Given the description of an element on the screen output the (x, y) to click on. 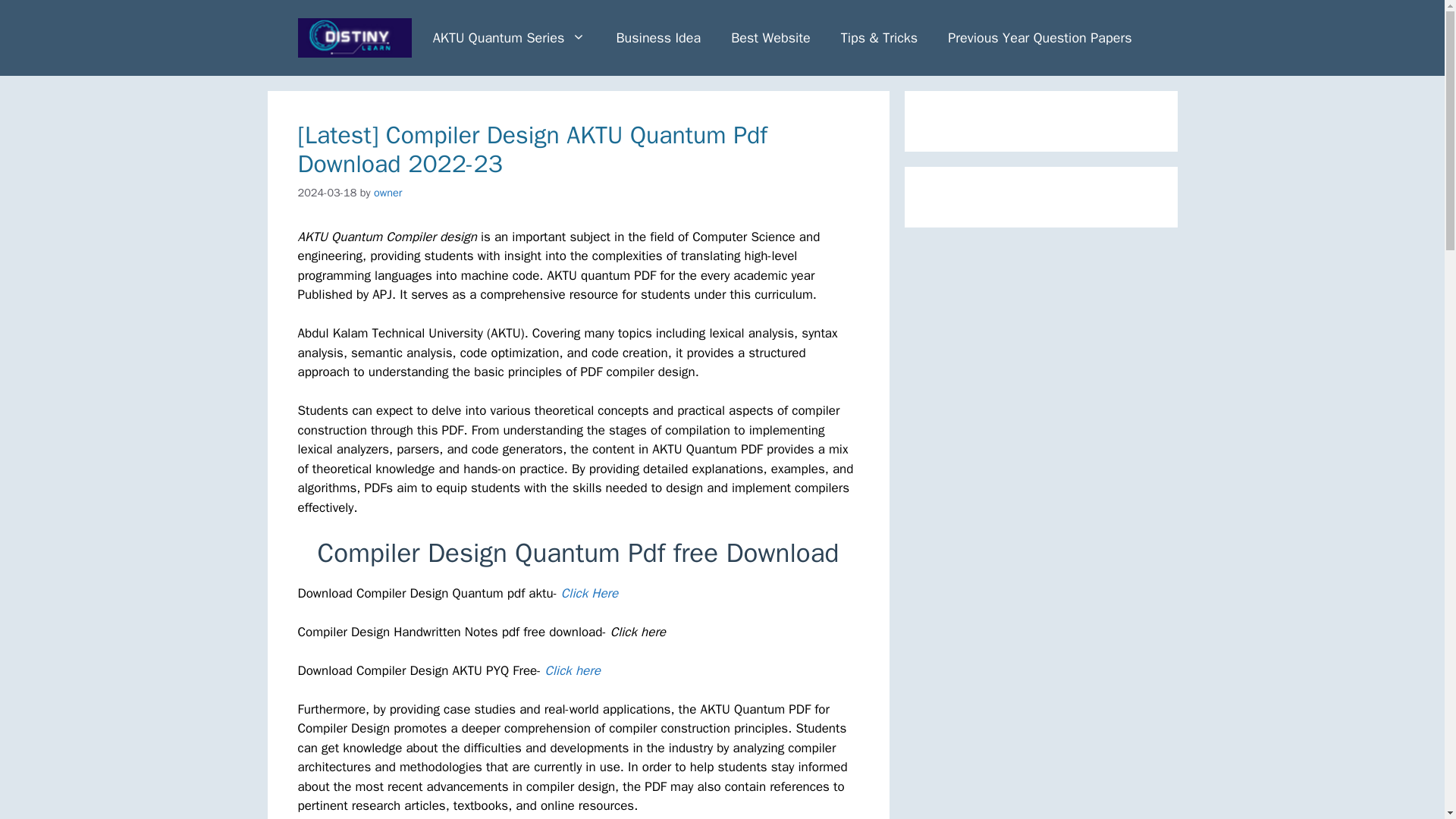
Click here (571, 670)
owner (387, 192)
Best Website (770, 37)
View all posts by owner (387, 192)
Click Here (588, 593)
AKTU Quantum Series (509, 37)
Previous Year Question Papers (1040, 37)
Business Idea (657, 37)
